Given the description of an element on the screen output the (x, y) to click on. 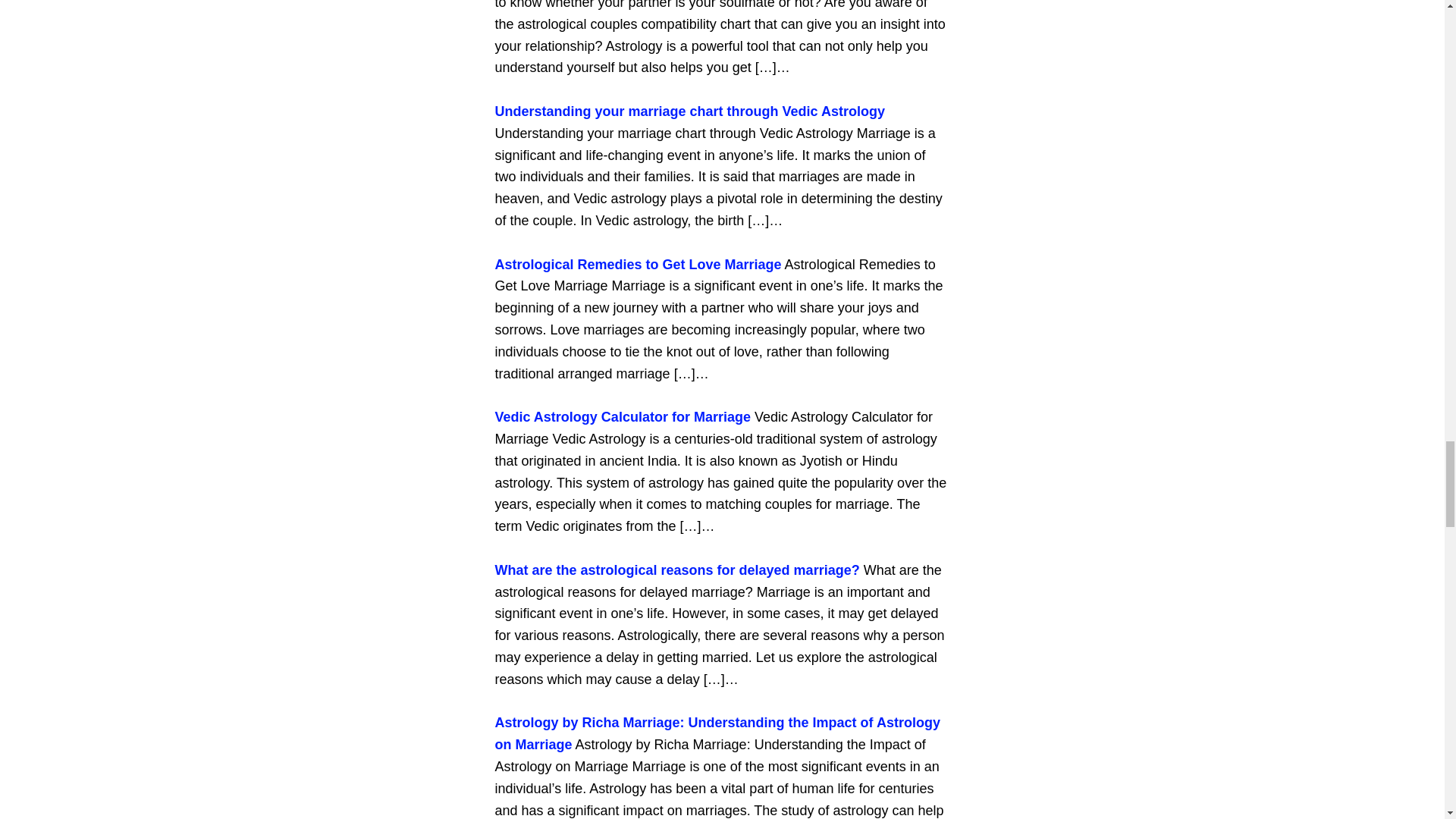
Astrological Remedies to Get Love Marriage (637, 264)
Vedic Astrology Calculator for Marriage (622, 417)
Vedic Astrology Calculator for Marriage (622, 417)
Understanding your marriage chart through Vedic Astrology (689, 111)
Understanding your marriage chart through Vedic Astrology (689, 111)
Astrological Remedies to Get Love Marriage (637, 264)
What are the astrological reasons for delayed marriage? (677, 570)
